Given the description of an element on the screen output the (x, y) to click on. 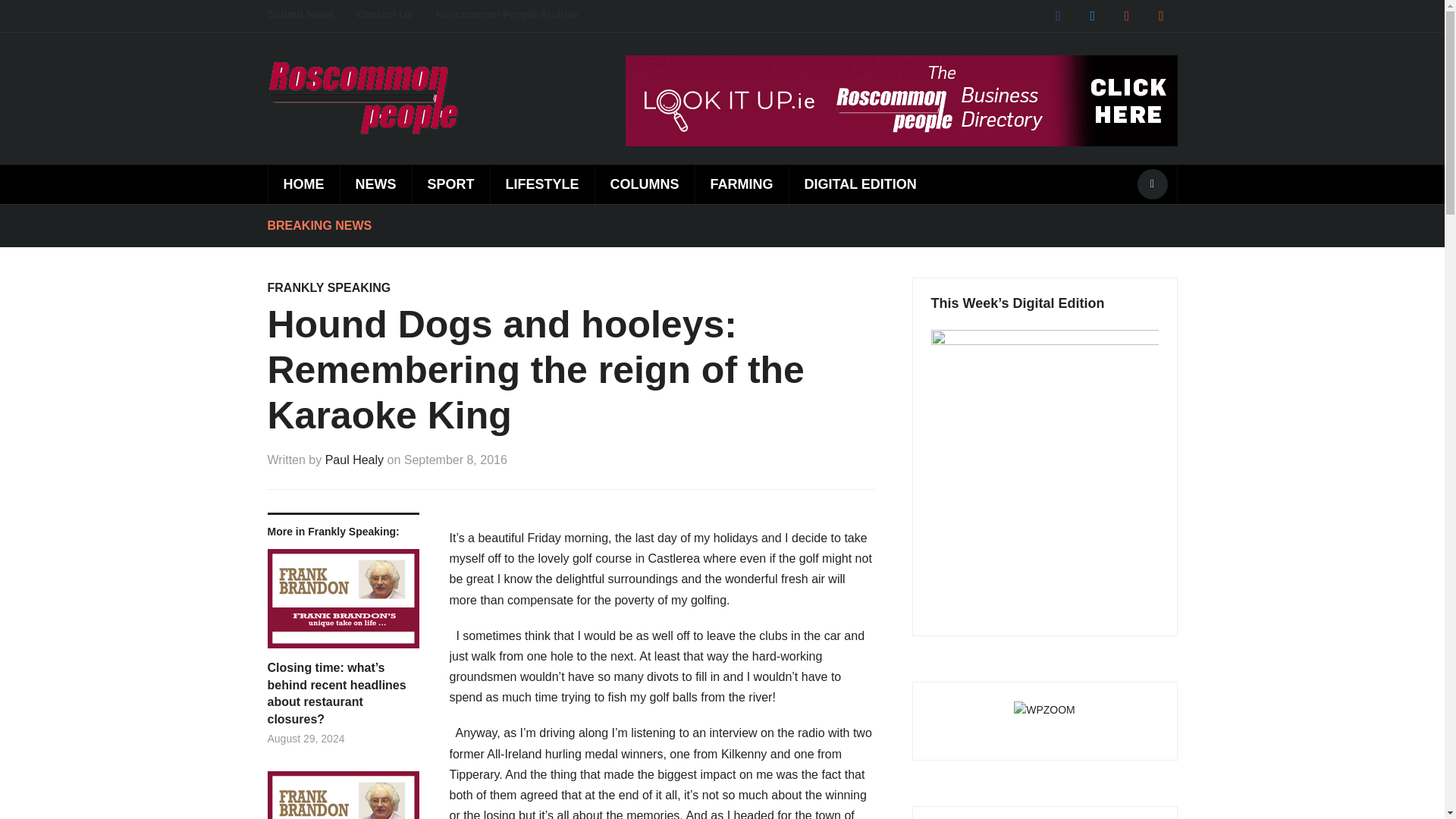
instagram (1126, 14)
SPORT (449, 184)
Friend me on Facebook (1057, 14)
COLUMNS (644, 184)
LIFESTYLE (541, 184)
twitter (1092, 14)
Contact Us (395, 15)
NEWS (375, 184)
FARMING (741, 184)
FRANKLY SPEAKING (328, 287)
